Given the description of an element on the screen output the (x, y) to click on. 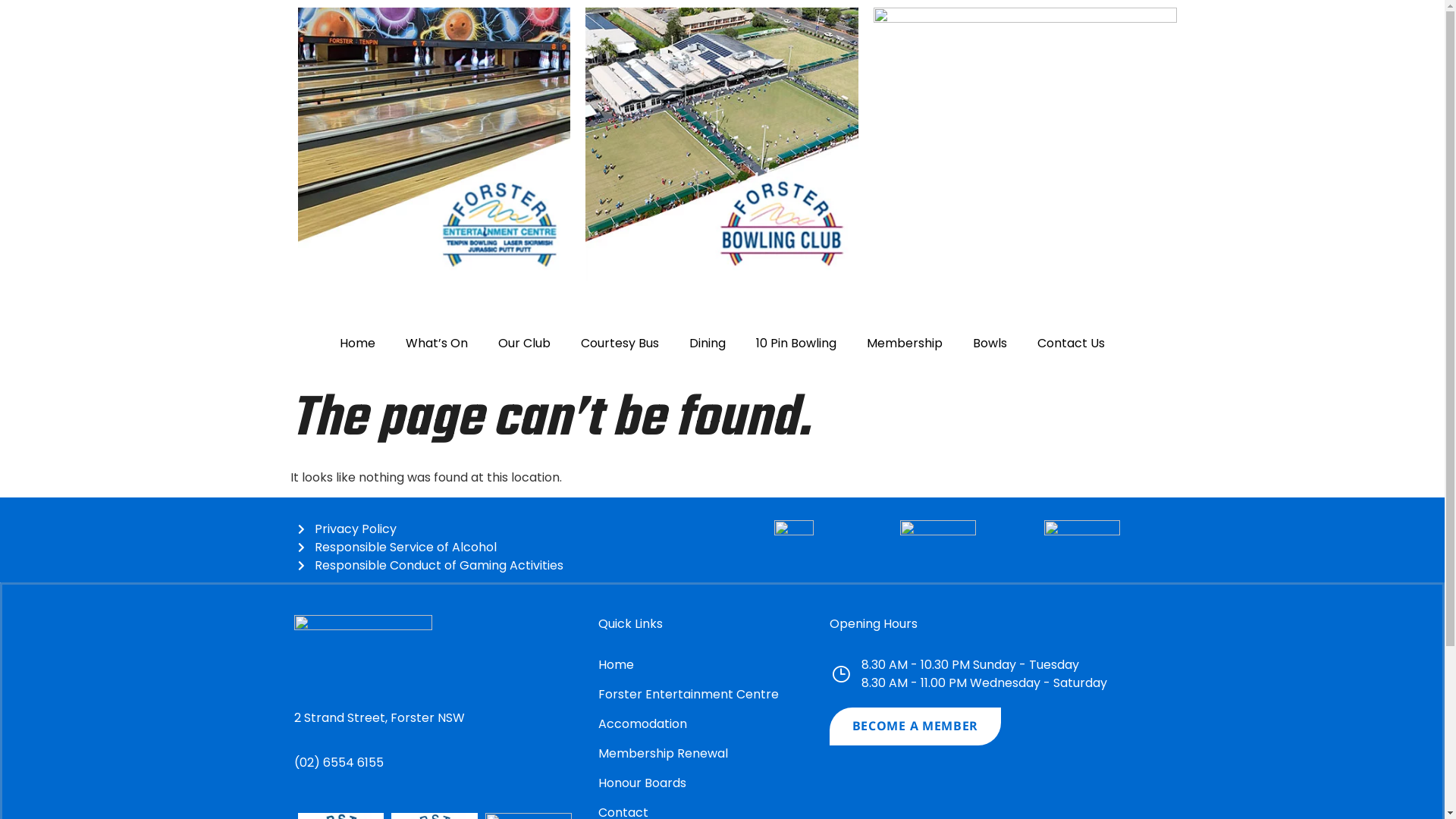
Courtesy Bus Element type: text (619, 343)
10 Pin Bowling Element type: text (795, 343)
Responsible Conduct of Gaming Activities Element type: text (505, 565)
Home Element type: text (357, 343)
Accomodation Element type: text (713, 724)
Membership Element type: text (904, 343)
(02) 6554 6155 Element type: text (338, 762)
Our Club Element type: text (524, 343)
Honour Boards Element type: text (713, 783)
Contact Us Element type: text (1071, 343)
Privacy Policy Element type: text (505, 529)
Forster Entertainment Centre Element type: text (713, 694)
Dining Element type: text (707, 343)
Responsible Service of Alcohol Element type: text (505, 547)
Home Element type: text (713, 664)
Bowls Element type: text (989, 343)
Membership Renewal Element type: text (713, 753)
BECOME A MEMBER Element type: text (915, 725)
